Given the description of an element on the screen output the (x, y) to click on. 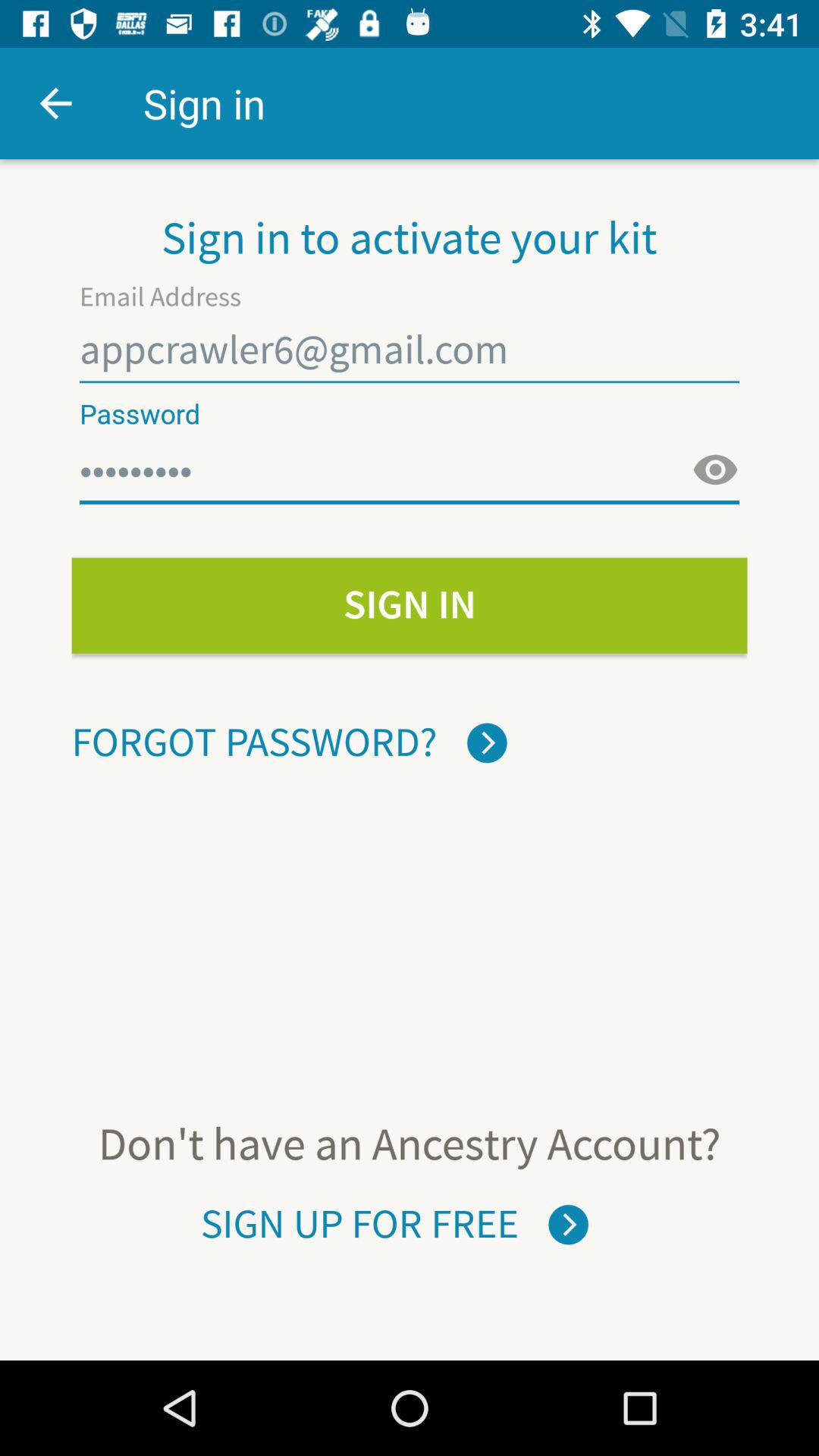
show the password (715, 470)
